Given the description of an element on the screen output the (x, y) to click on. 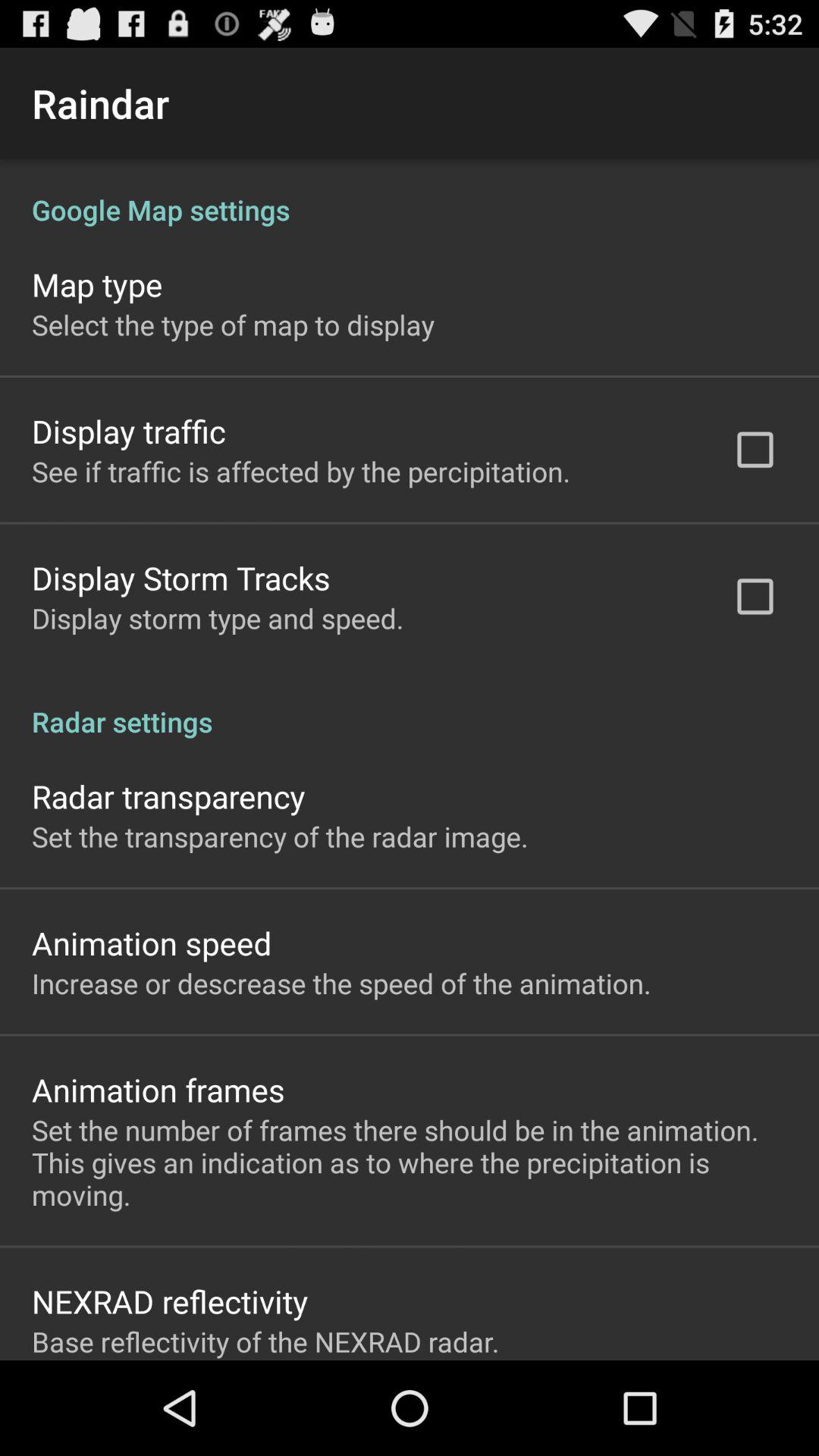
click the app below the map type app (232, 324)
